Given the description of an element on the screen output the (x, y) to click on. 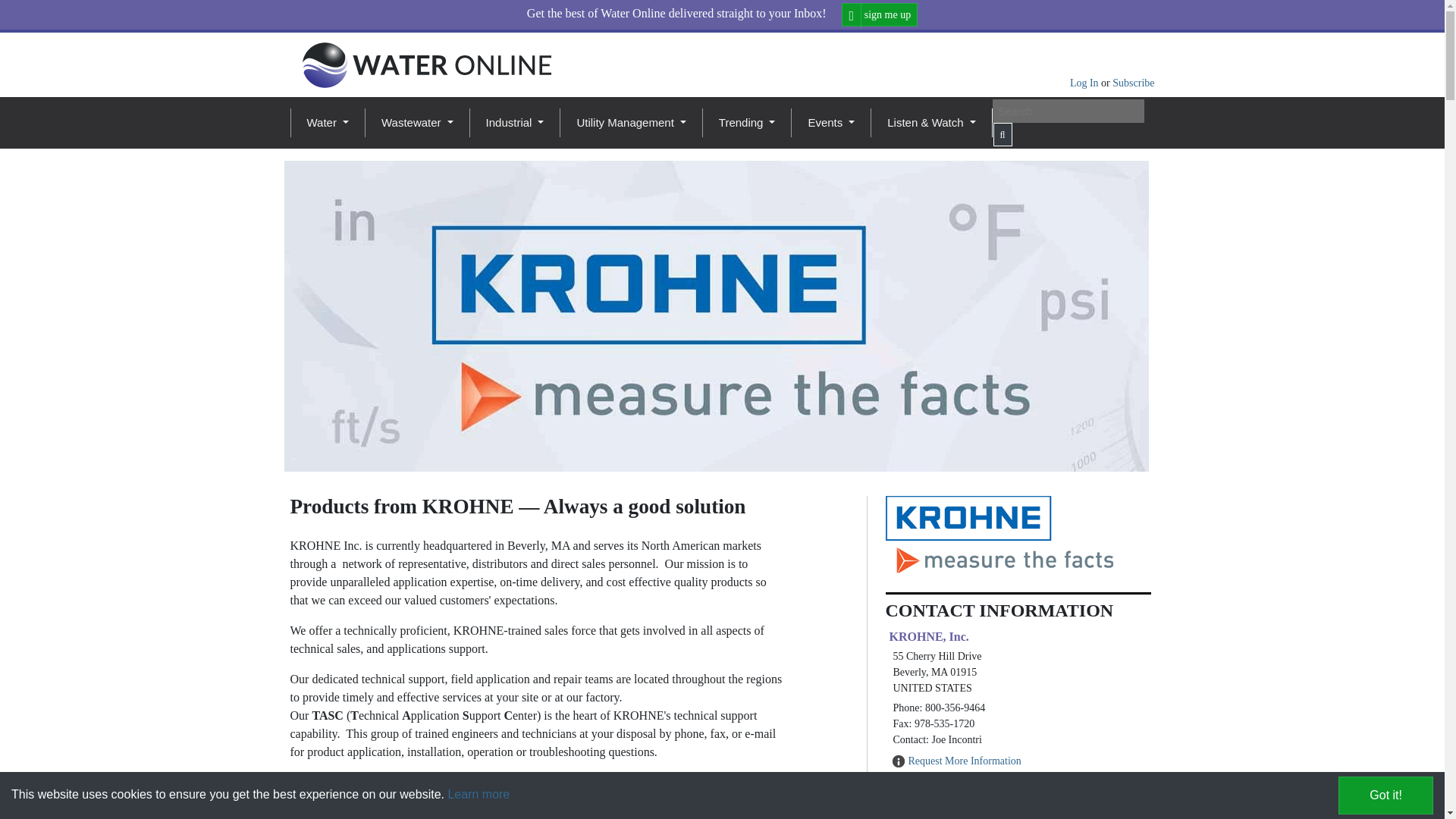
Log In (1085, 82)
Subscribe (1133, 82)
sign me up (879, 14)
Wastewater (417, 123)
Water (326, 123)
